Given the description of an element on the screen output the (x, y) to click on. 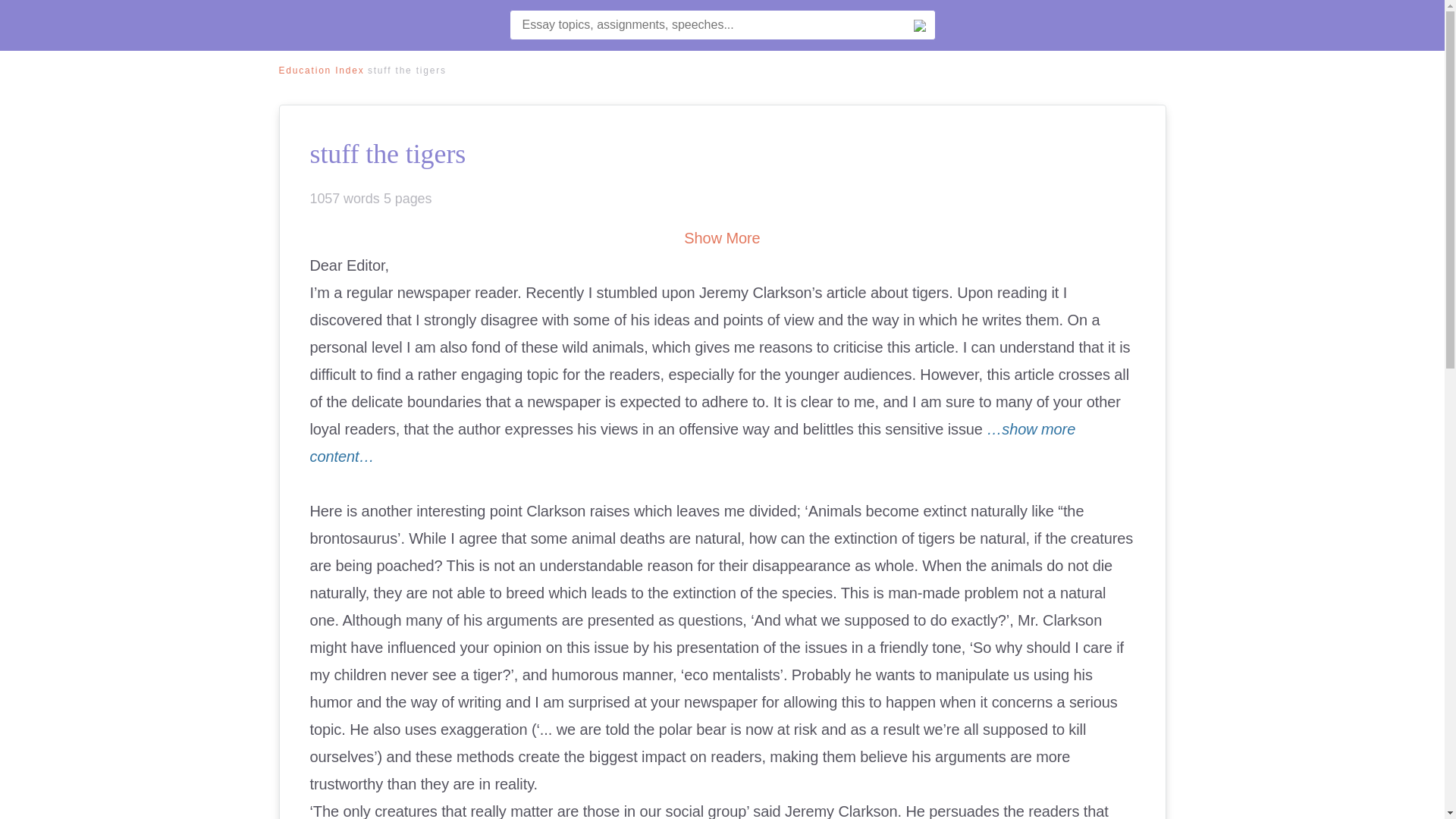
Show More (722, 238)
Education Index (322, 70)
